Given the description of an element on the screen output the (x, y) to click on. 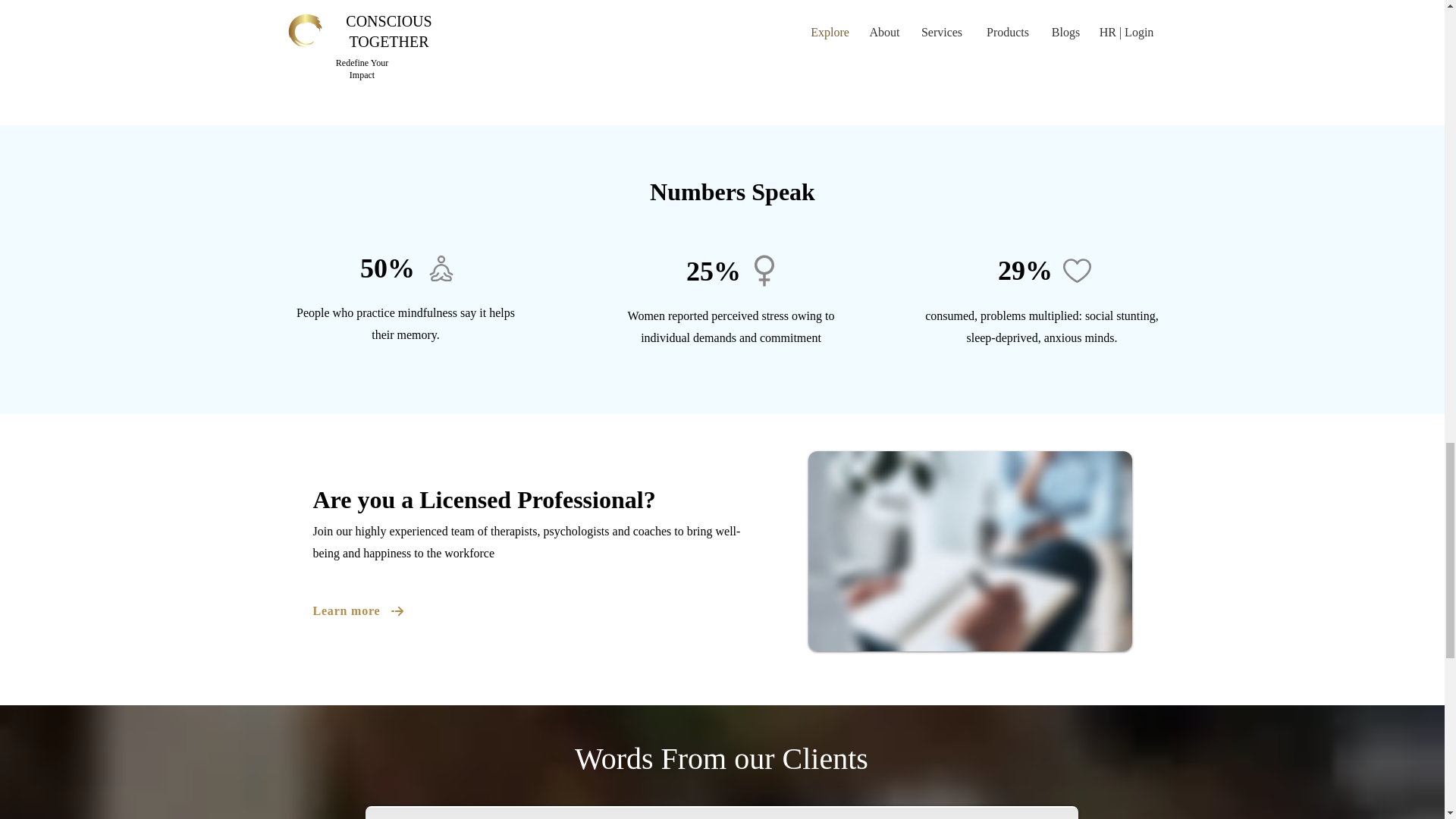
Learn more (363, 611)
